Given the description of an element on the screen output the (x, y) to click on. 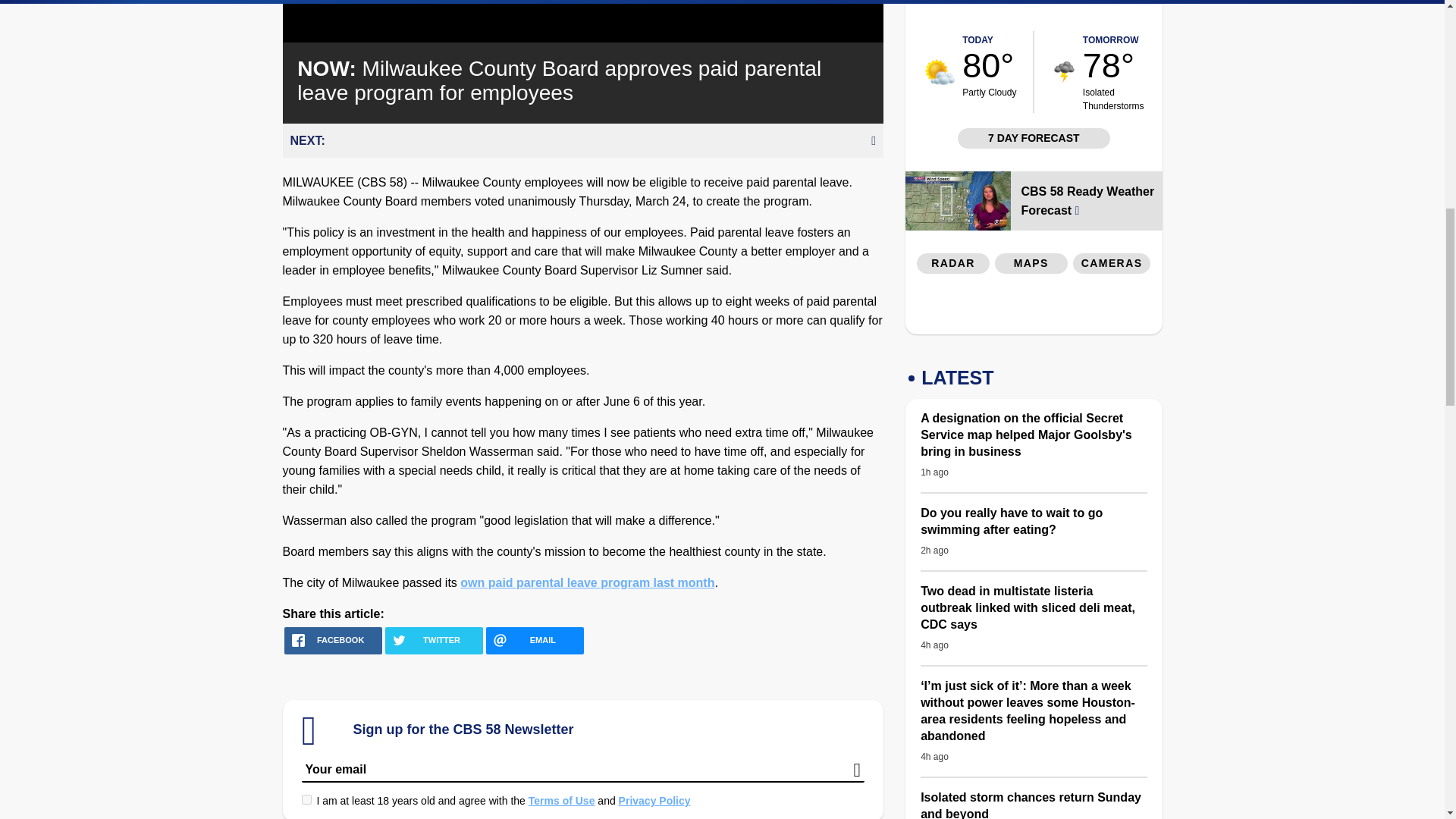
weather (1063, 72)
weather (939, 71)
3rd party ad content (1112, 11)
on (306, 799)
3rd party ad content (1034, 307)
